Given the description of an element on the screen output the (x, y) to click on. 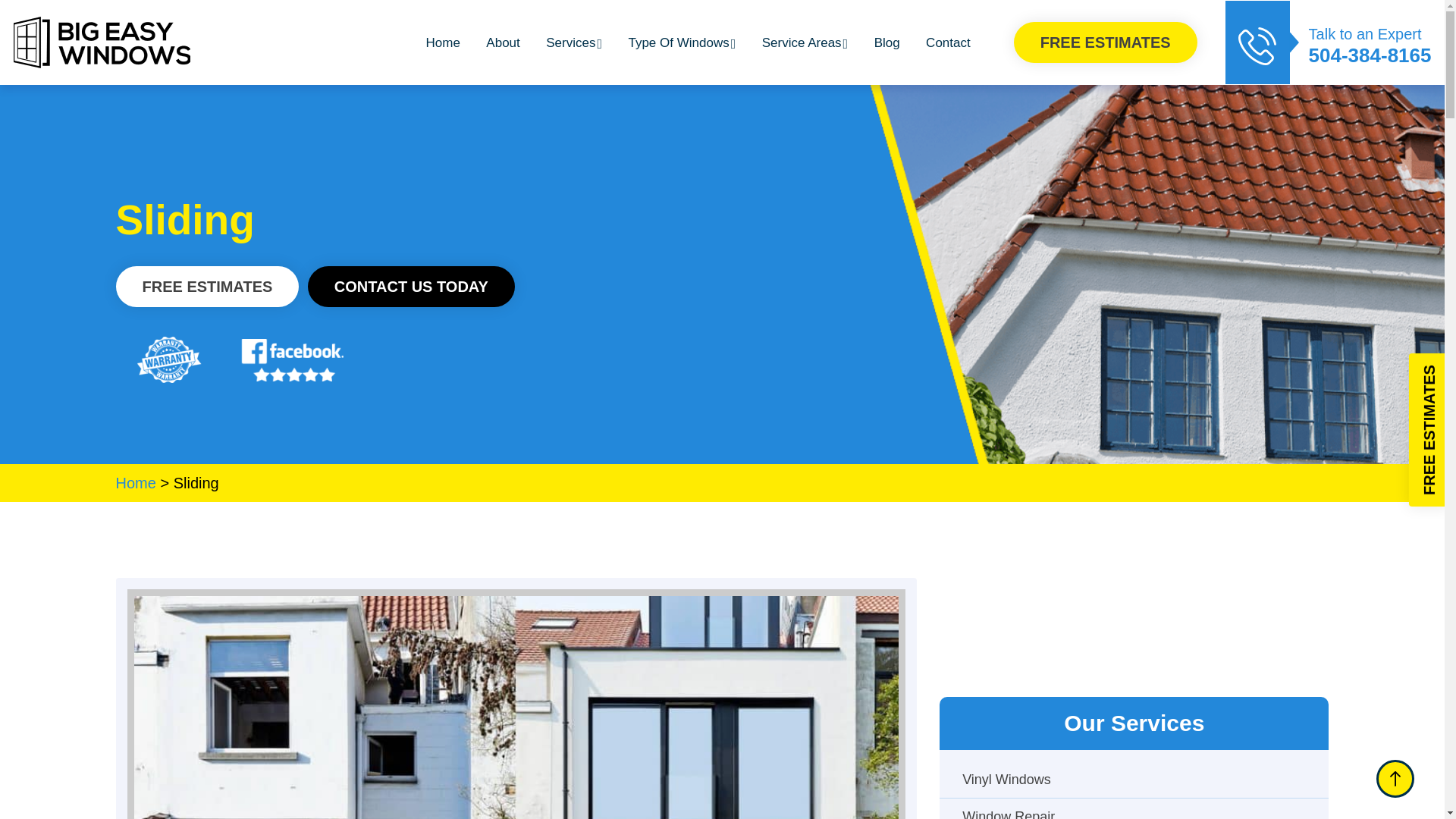
504-384-8165 (1369, 55)
logos-02 (167, 359)
Free Estimates - Sidebar (1133, 634)
Type Of Windows (681, 41)
Contact (948, 43)
Services (574, 41)
FREE ESTIMATES (1104, 42)
About (502, 43)
Home (443, 43)
Service Areas (804, 41)
